Given the description of an element on the screen output the (x, y) to click on. 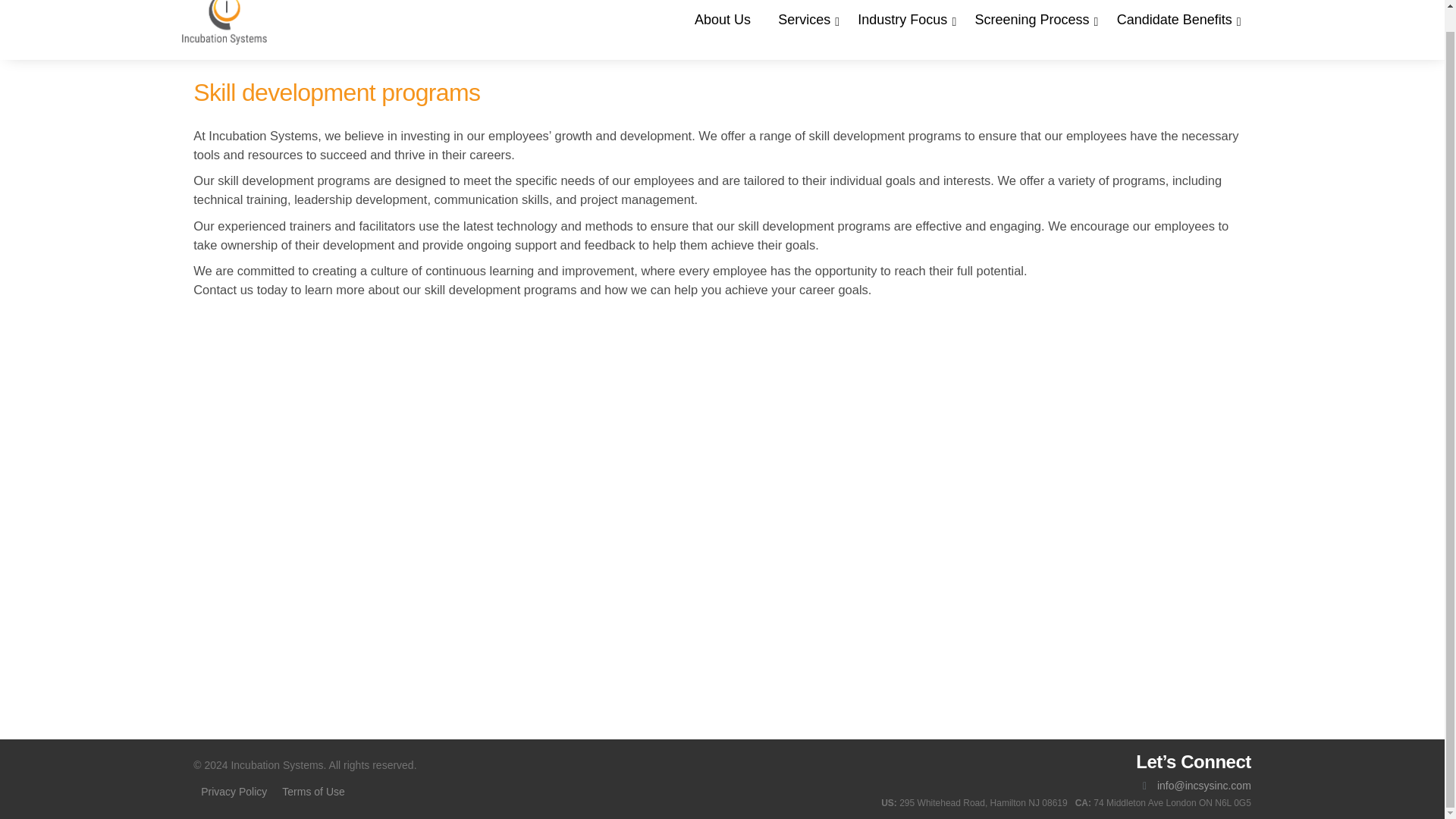
Candidate Benefits (1174, 19)
Services (804, 19)
Incubation Systems (224, 16)
About Us (722, 19)
Screening Process (1032, 19)
Industry Focus (902, 19)
